Given the description of an element on the screen output the (x, y) to click on. 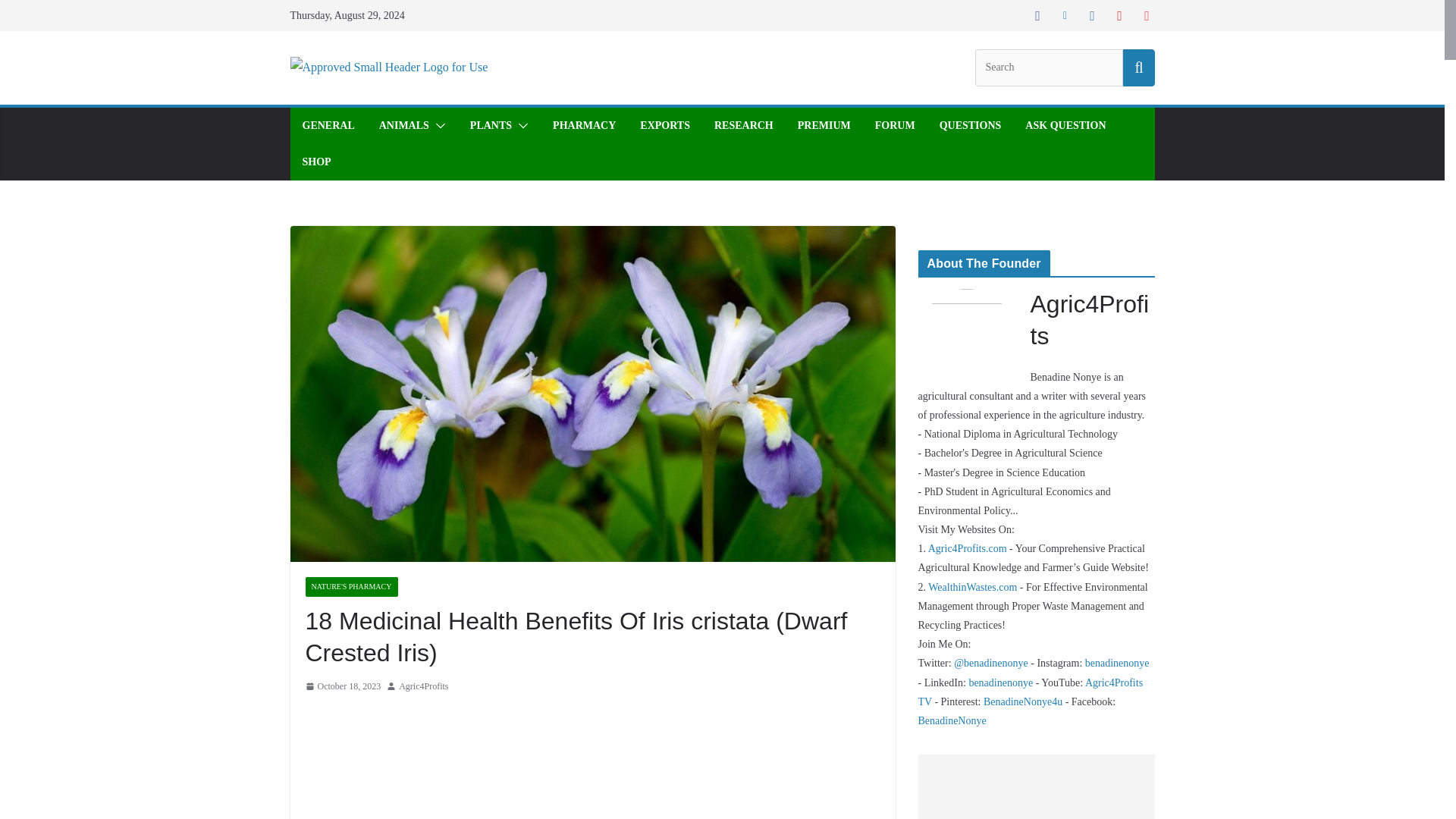
Agric4Profits (423, 686)
PHARMACY (584, 125)
FORUM (895, 125)
EXPORTS (665, 125)
ANIMALS (403, 125)
ASK QUESTION (1065, 125)
SHOP (315, 161)
Advertisement (592, 761)
PLANTS (491, 125)
RESEARCH (743, 125)
